Given the description of an element on the screen output the (x, y) to click on. 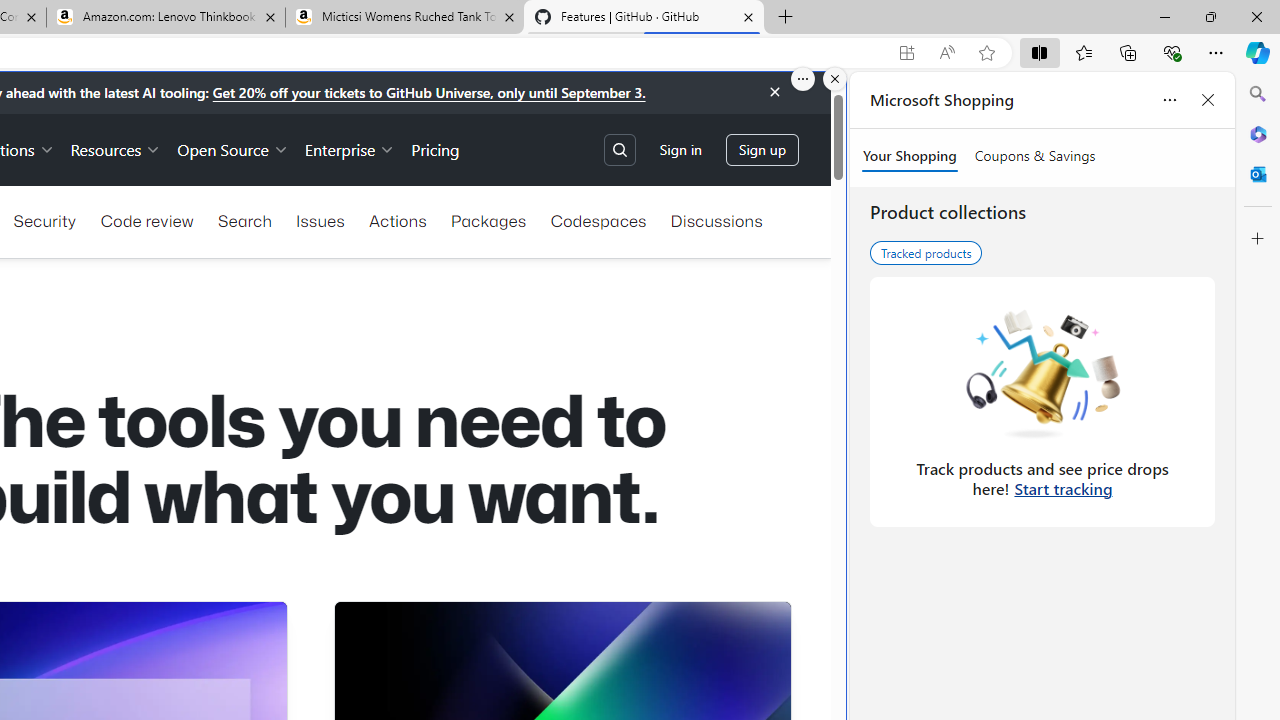
Close split screen. (835, 79)
Issues (320, 220)
Resources (115, 148)
Open Source (232, 148)
Codespaces (598, 220)
Actions (397, 220)
